Given the description of an element on the screen output the (x, y) to click on. 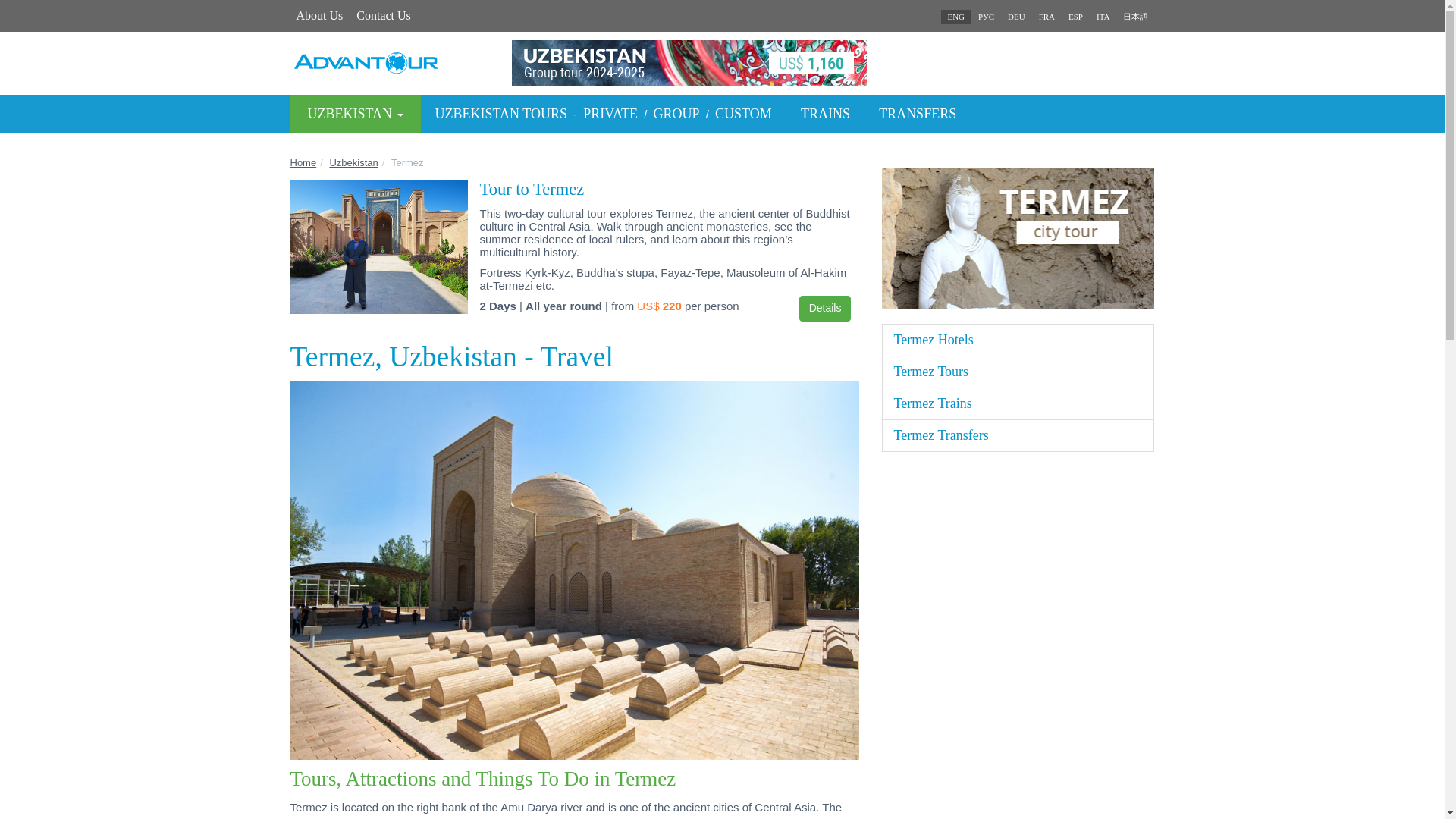
TRAINS (825, 113)
Termes, Usbekistan (1015, 16)
Uzbekistan Trains (825, 113)
Uzbekistan Private Tours (610, 113)
Home (302, 162)
Uzbekistan (353, 162)
UZBEKISTAN TOURS (501, 113)
About Us (319, 15)
Contact Us (383, 15)
Termez, Uzbekistan - Viaggio (1102, 16)
PRIVATE (610, 113)
ESP (1075, 16)
Uzbekistan Travel (353, 162)
Small Group Uzbekistan Tour 2024-2025 (722, 62)
Transfers between cities in Uzbekistan (917, 113)
